Given the description of an element on the screen output the (x, y) to click on. 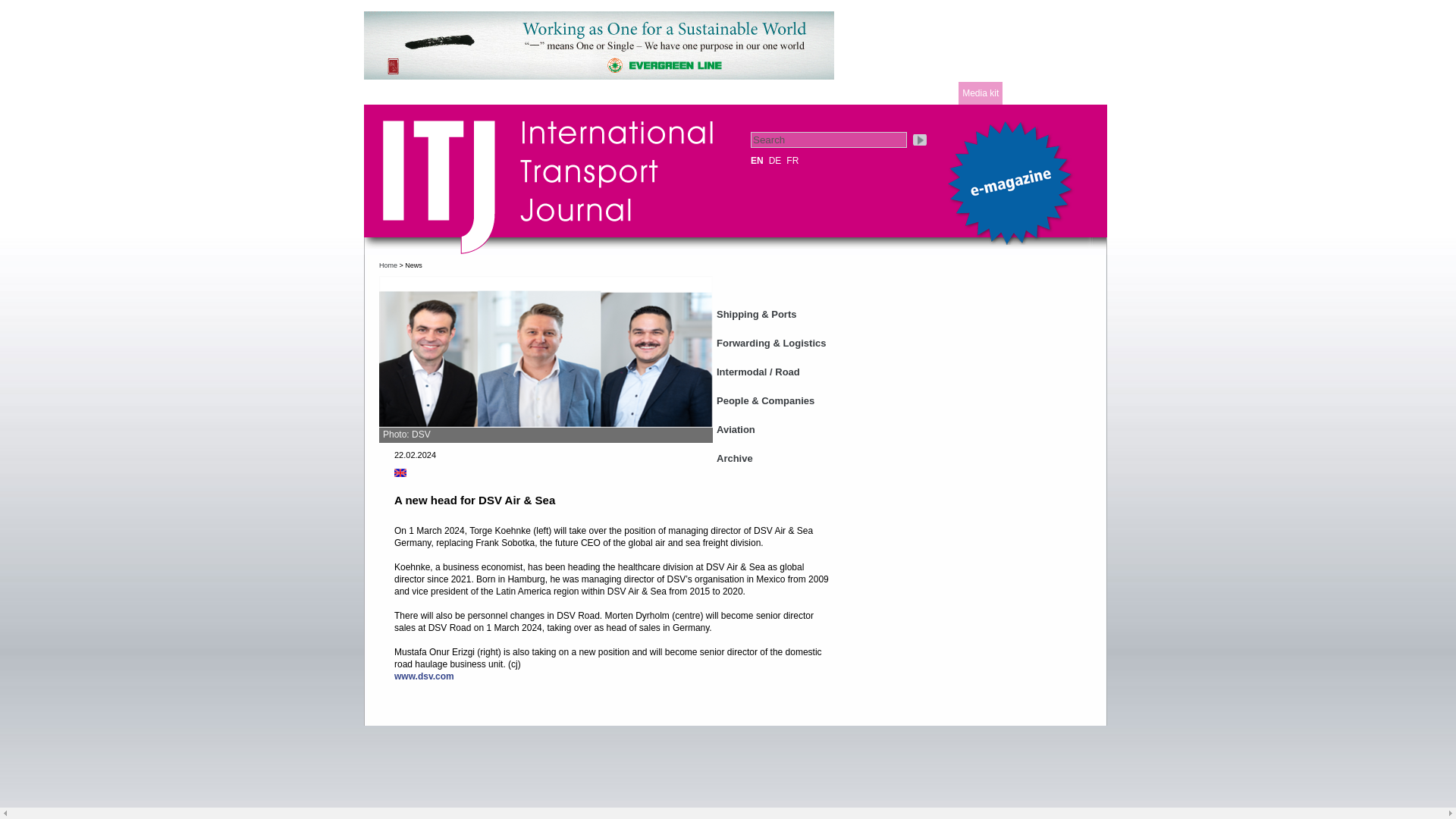
Publisher (430, 92)
EN (756, 160)
Search (829, 139)
Home (387, 265)
Contact (764, 92)
Subscription (820, 92)
Archive (771, 453)
Sitemap (935, 92)
www.dsv.com (424, 675)
FR (791, 160)
